Given the description of an element on the screen output the (x, y) to click on. 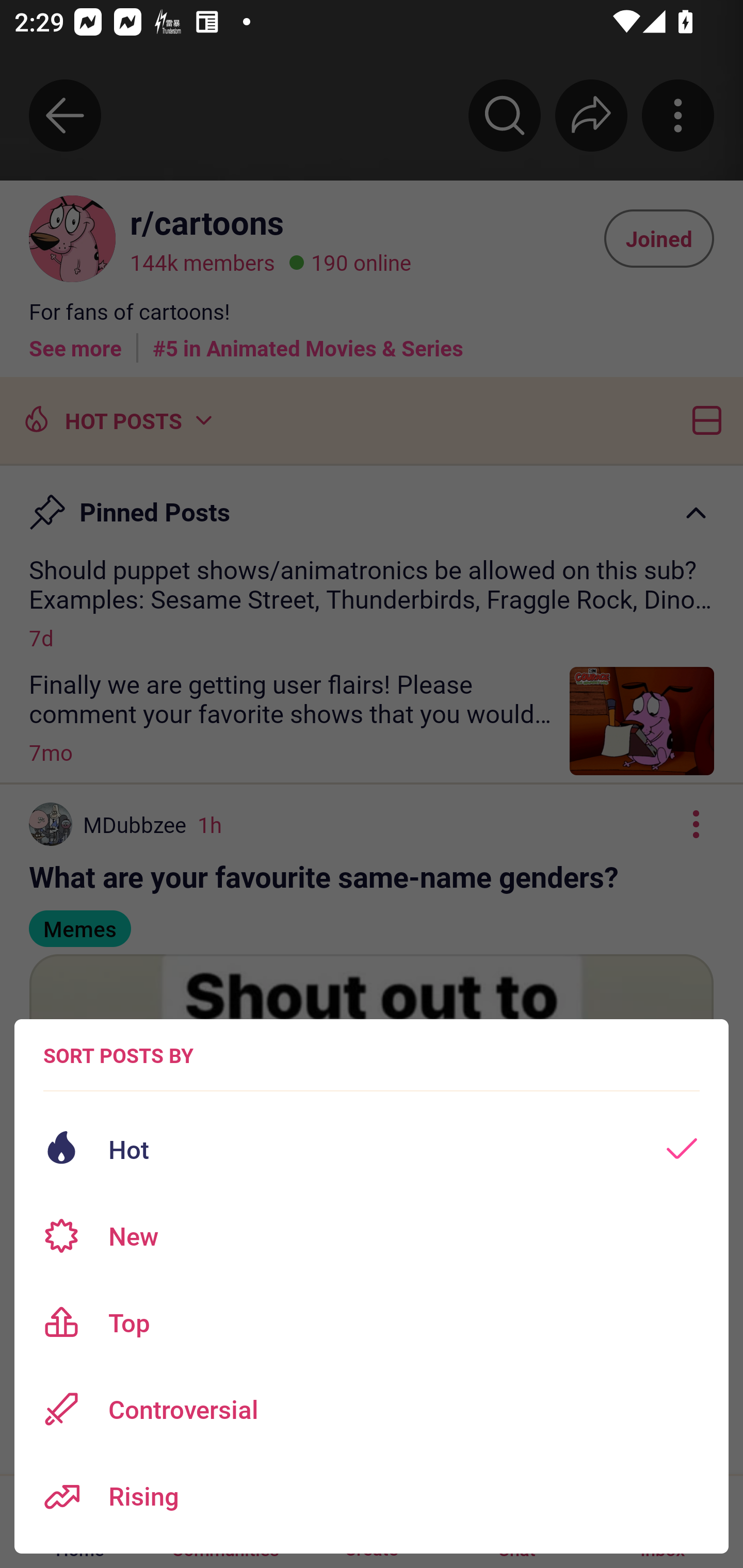
SORT POSTS BY Sort posts options (118, 1055)
Hot (371, 1149)
New (371, 1236)
Top (371, 1322)
Controversial (371, 1408)
Rising (371, 1495)
